Given the description of an element on the screen output the (x, y) to click on. 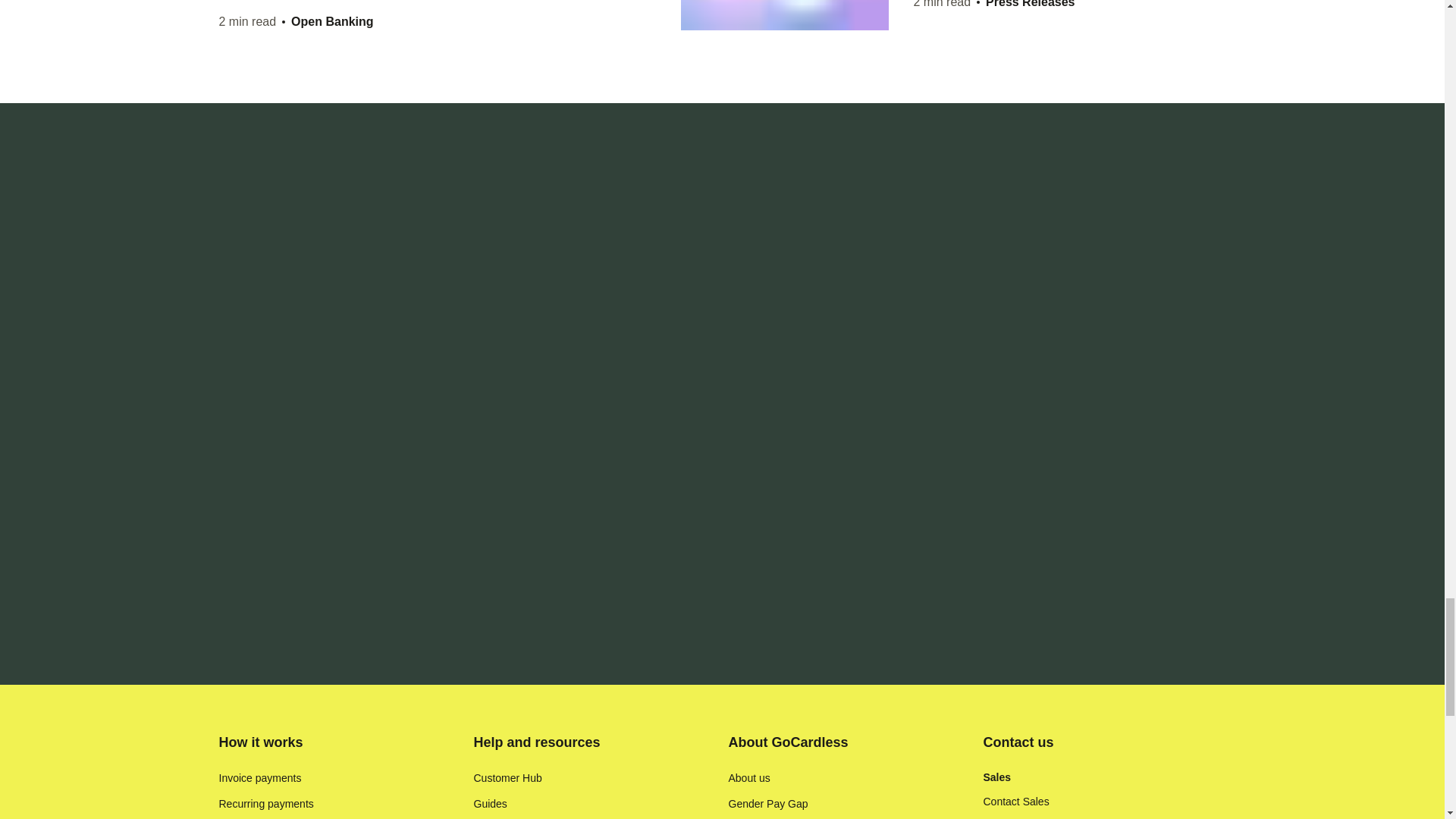
Recurring payments (265, 803)
Guides (489, 803)
About us (749, 777)
Customer Hub (507, 777)
Gender Pay Gap (768, 803)
Invoice payments (259, 777)
